Given the description of an element on the screen output the (x, y) to click on. 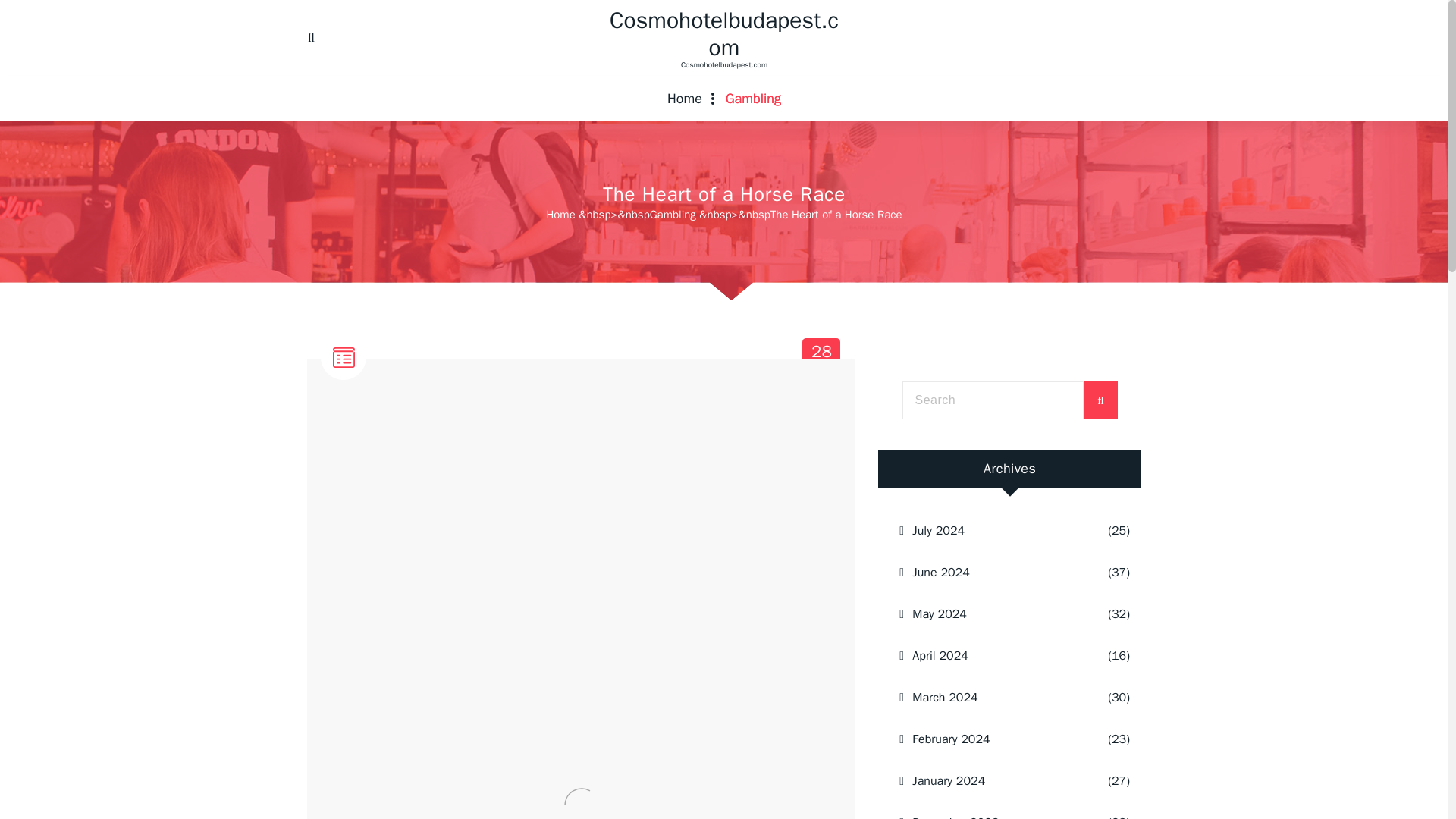
Home (560, 214)
Gambling (753, 98)
December 2023 (990, 810)
Gambling (672, 214)
April 2024 (990, 655)
Home (684, 98)
February 2024 (990, 739)
May 2024 (990, 613)
March 2024 (990, 697)
Home (684, 98)
January 2024 (821, 357)
July 2024 (990, 780)
Gambling (990, 530)
Cosmohotelbudapest.com (753, 98)
